Given the description of an element on the screen output the (x, y) to click on. 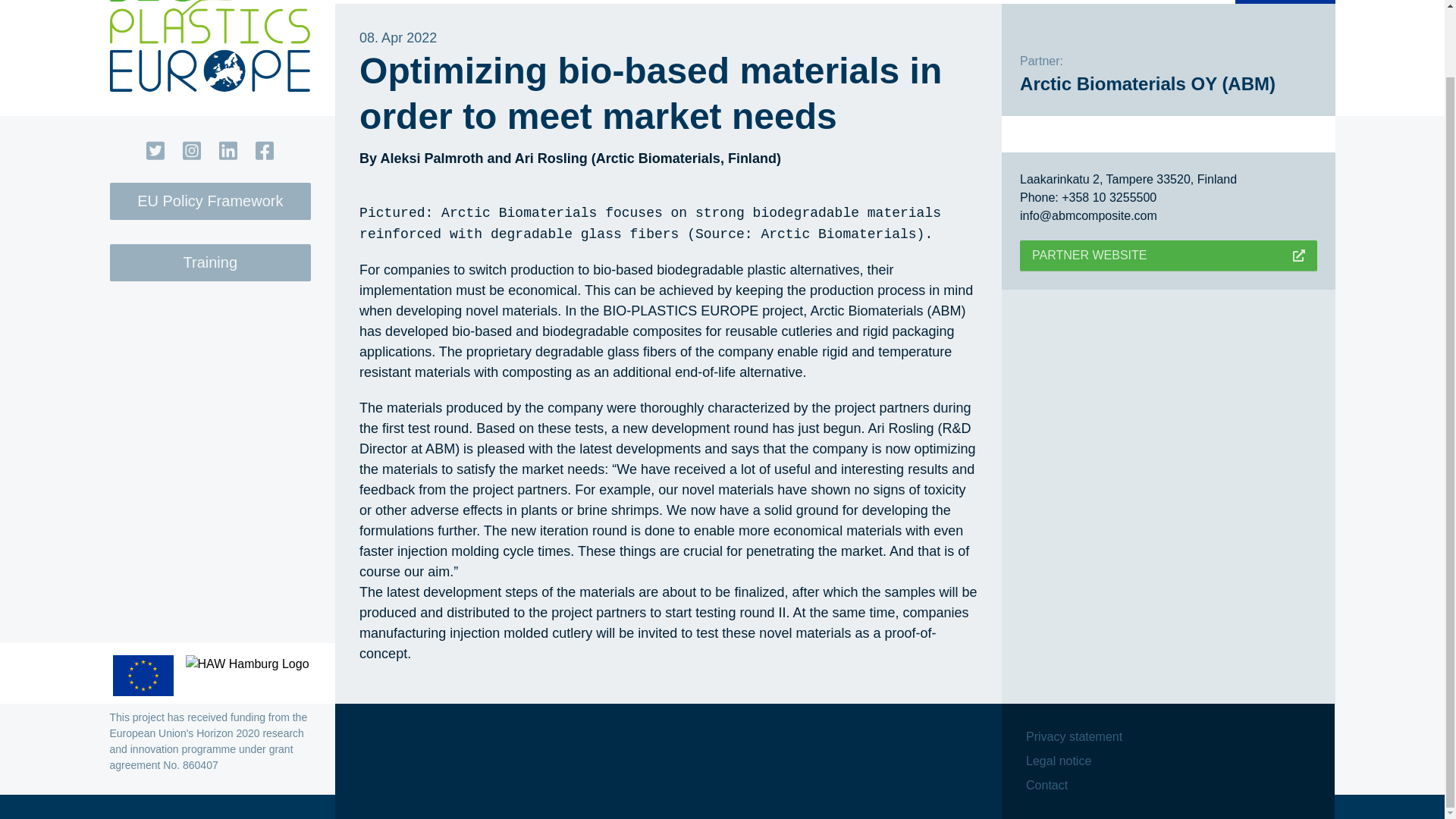
Training (210, 262)
Privacy statement (1074, 736)
PARTNER WEBSITE (1168, 255)
Legal notice (1058, 761)
Project (380, 2)
Downloads (1170, 2)
Stakeholder Engagement (813, 2)
Partners (631, 2)
Contact (1046, 785)
EU Policy Framework (210, 201)
"Bio-plastics" (502, 2)
